Given the description of an element on the screen output the (x, y) to click on. 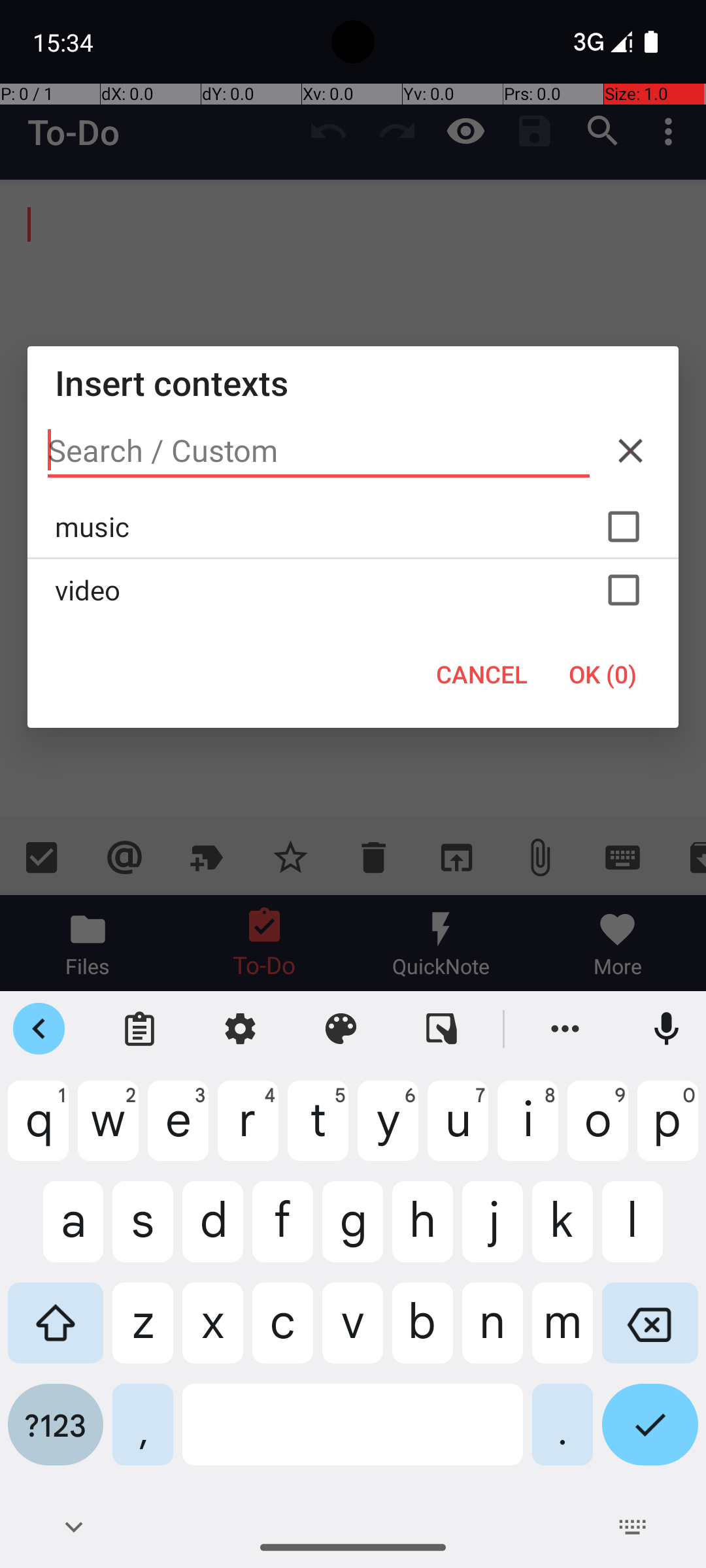
Insert contexts Element type: android.widget.TextView (352, 382)
Search / Custom Element type: android.widget.EditText (318, 450)
music Element type: android.widget.CheckedTextView (352, 526)
video Element type: android.widget.CheckedTextView (352, 589)
